Given the description of an element on the screen output the (x, y) to click on. 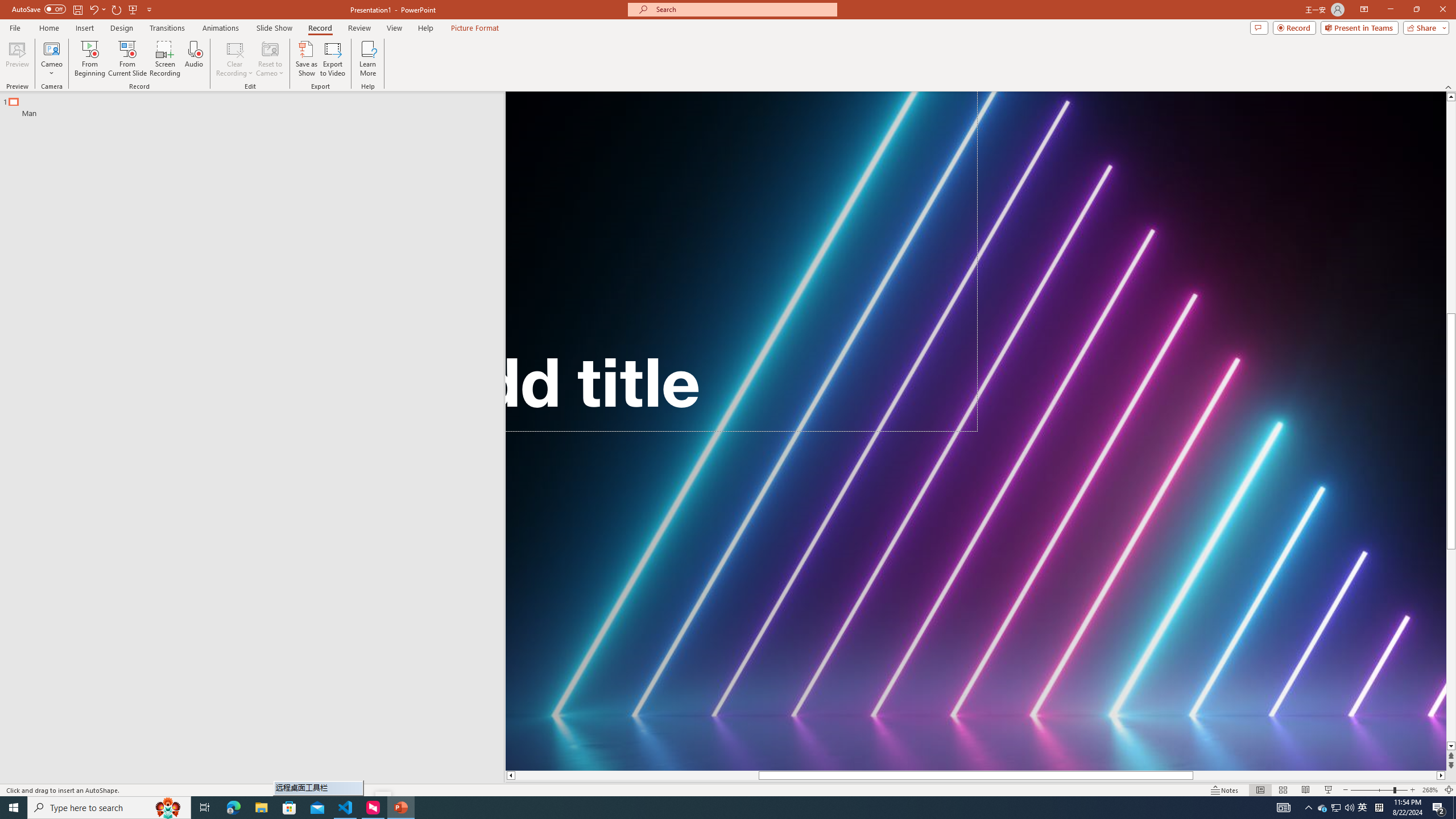
Zoom 268% (1430, 790)
